Given the description of an element on the screen output the (x, y) to click on. 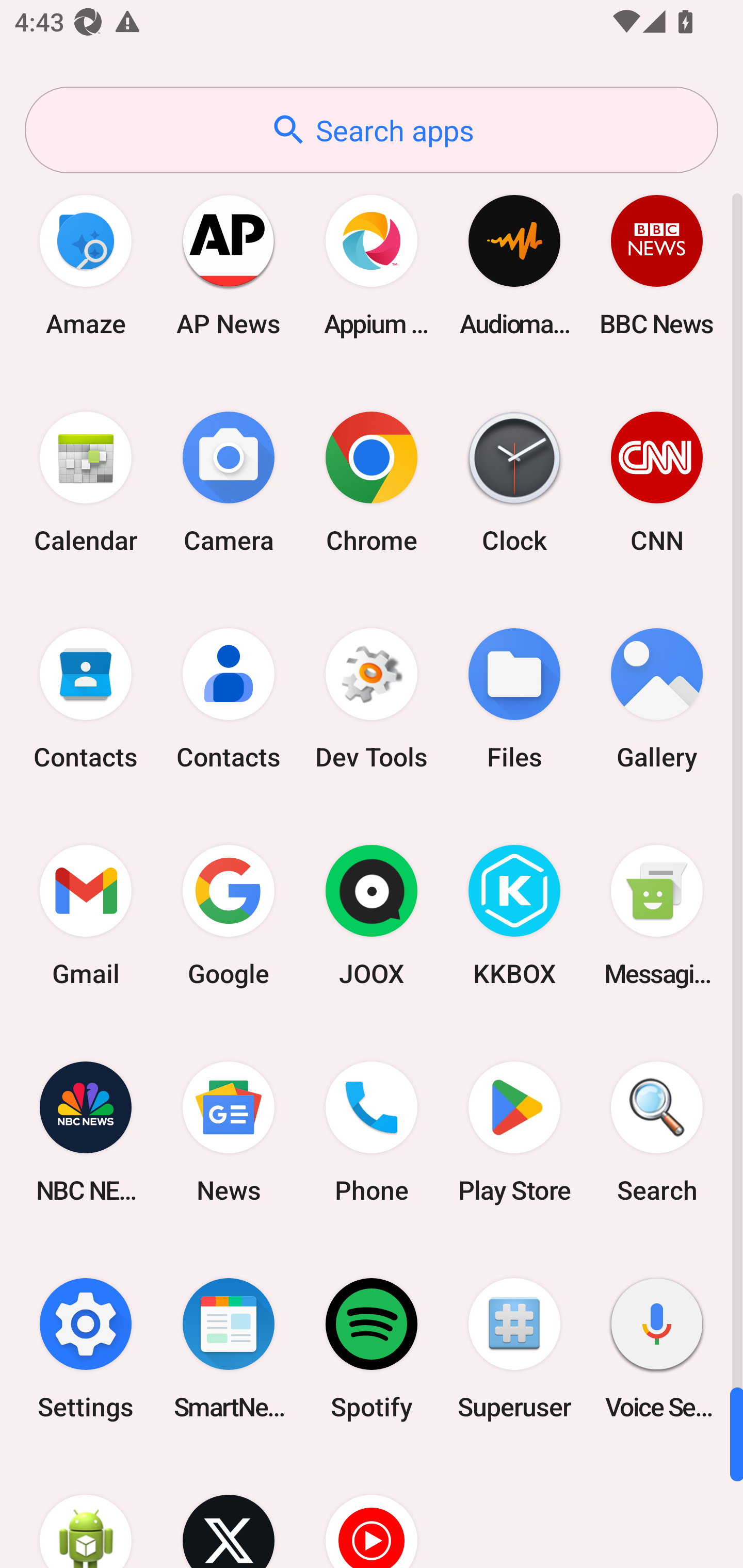
  Search apps (371, 130)
Amaze (85, 264)
AP News (228, 264)
Appium Settings (371, 264)
Audio­mack (514, 264)
BBC News (656, 264)
Calendar (85, 482)
Camera (228, 482)
Chrome (371, 482)
Clock (514, 482)
CNN (656, 482)
Contacts (85, 699)
Contacts (228, 699)
Dev Tools (371, 699)
Files (514, 699)
Gallery (656, 699)
Gmail (85, 915)
Google (228, 915)
JOOX (371, 915)
KKBOX (514, 915)
Messaging (656, 915)
NBC NEWS (85, 1131)
News (228, 1131)
Phone (371, 1131)
Play Store (514, 1131)
Search (656, 1131)
Settings (85, 1348)
SmartNews (228, 1348)
Spotify (371, 1348)
Superuser (514, 1348)
Voice Search (656, 1348)
WebView Browser Tester (85, 1512)
X (228, 1512)
YT Music (371, 1512)
